Given the description of an element on the screen output the (x, y) to click on. 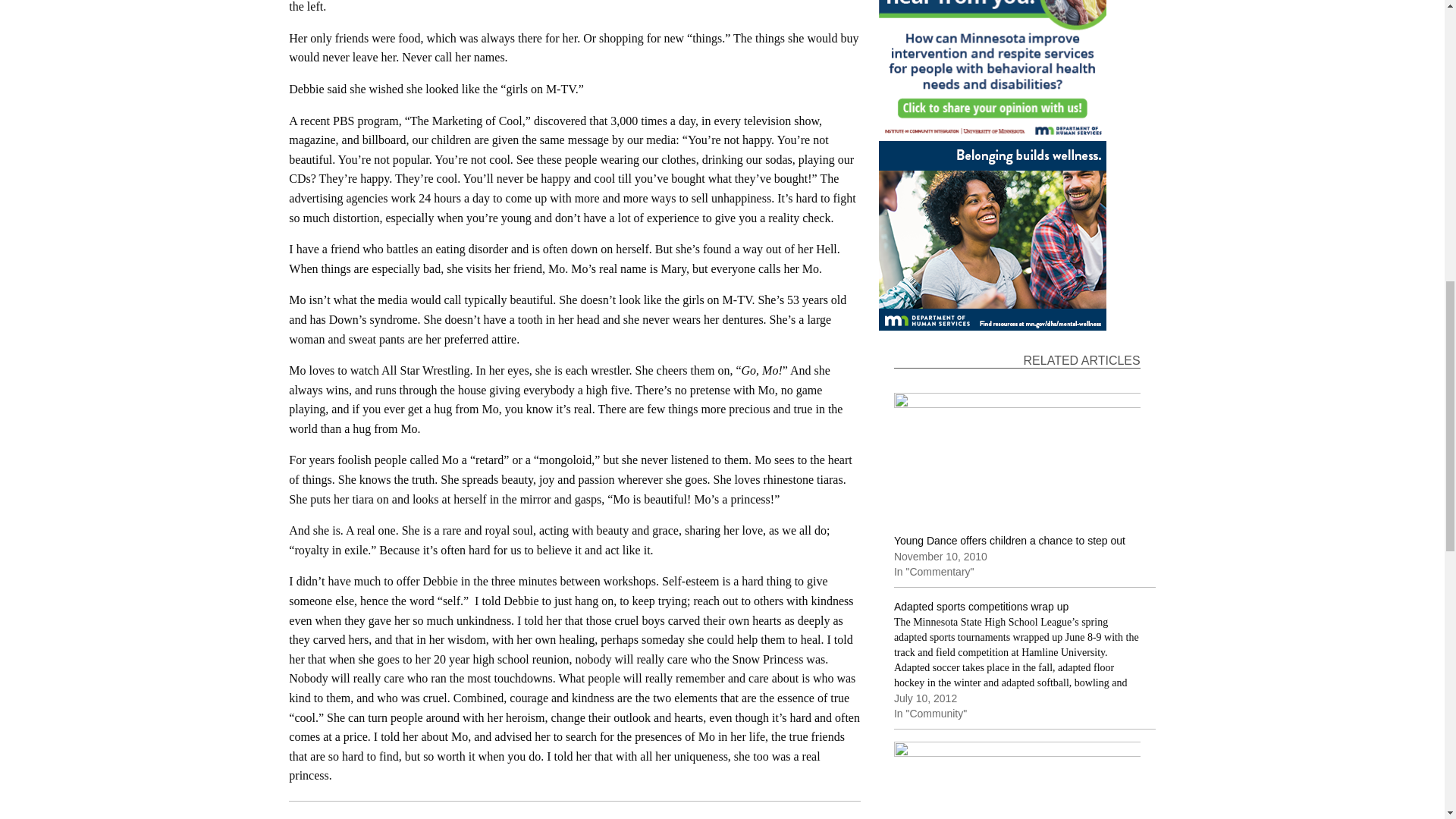
Young Dance offers children a chance to step out (1009, 540)
Adapted sports competitions wrap up (980, 605)
Hockey safety promoted in the wake of serious accidents (1016, 780)
Adapted sports competitions wrap up (1024, 663)
Young Dance offers children a chance to step out (1016, 463)
